Given the description of an element on the screen output the (x, y) to click on. 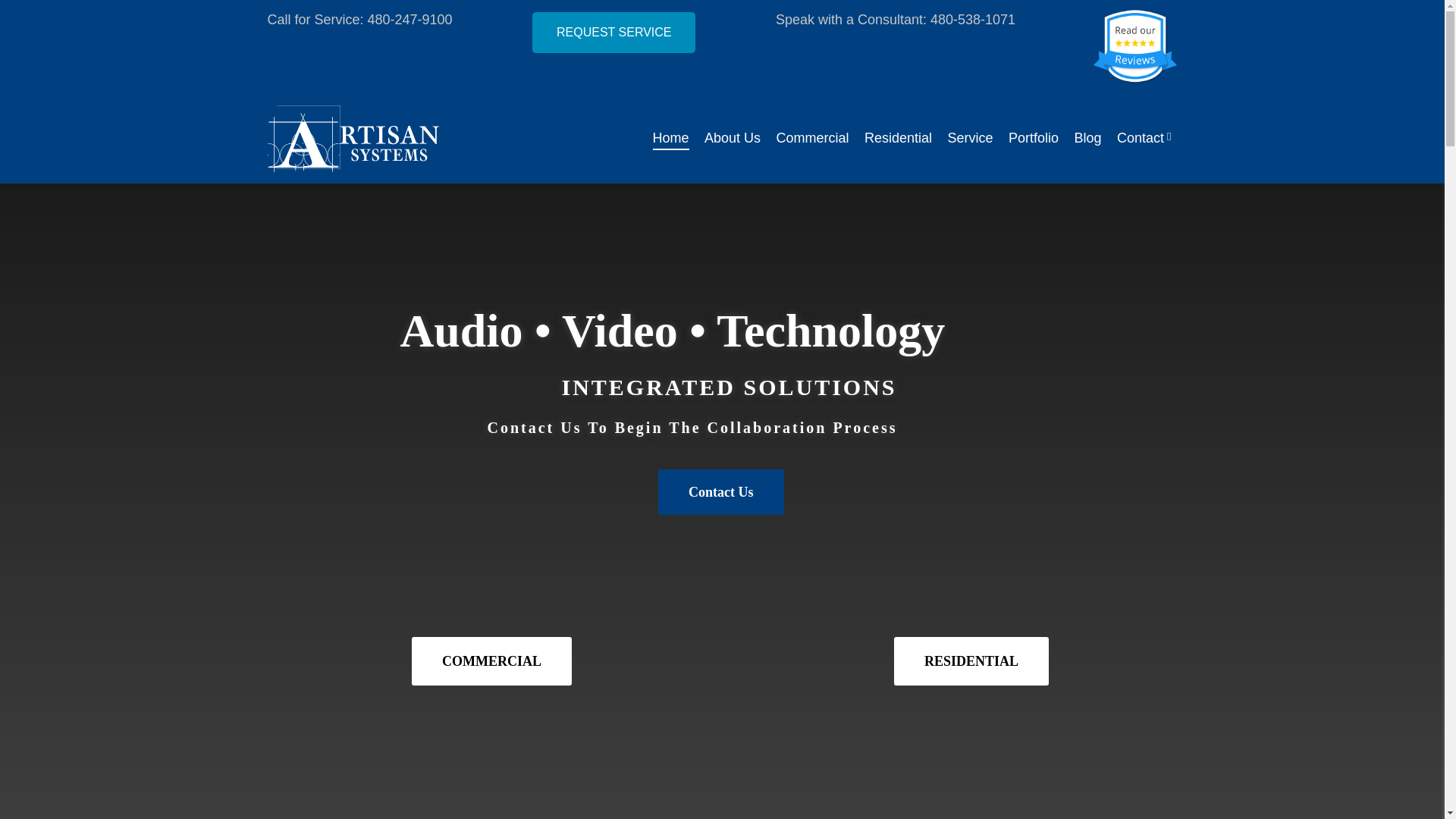
REQUEST SERVICE (614, 18)
Service (969, 138)
RESIDENTIAL (970, 661)
Blog (1087, 138)
Portfolio (1033, 138)
COMMERCIAL (492, 661)
Residential (897, 138)
Speak with a Consultant: 480-538-1071 (895, 47)
Call for Service: 480-247-9100 (358, 47)
Commercial (812, 138)
About Us (732, 138)
Home (670, 138)
Contact Us (721, 492)
REQUEST SERVICE (613, 32)
Contact (1144, 138)
